Given the description of an element on the screen output the (x, y) to click on. 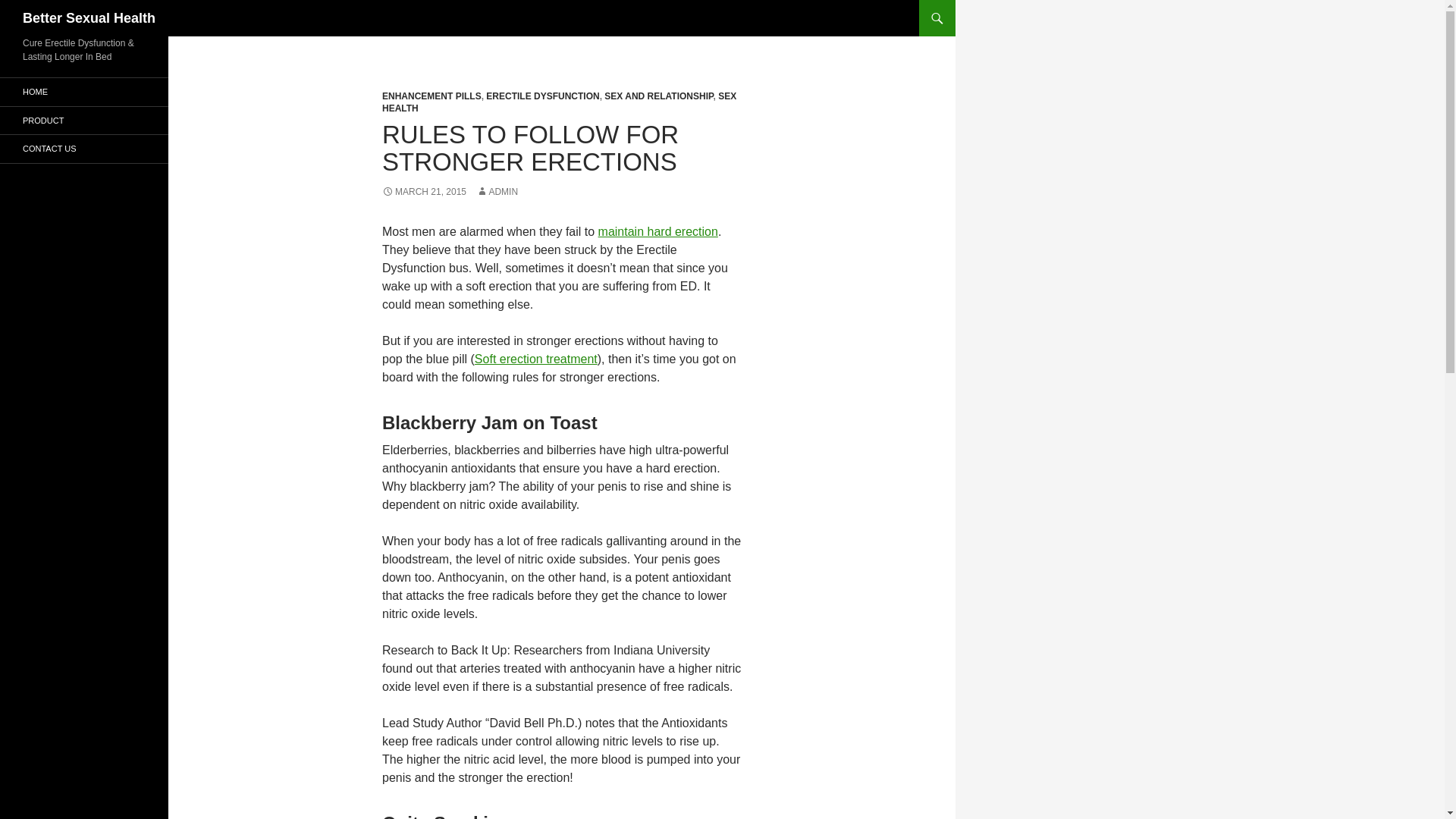
maintain hard erection (657, 231)
MARCH 21, 2015 (423, 191)
Better Sexual Health (89, 18)
maxi2 treat soft erection (535, 358)
activ homme maintain hard erection (657, 231)
SEX AND RELATIONSHIP (658, 95)
PRODUCT (84, 120)
ERECTILE DYSFUNCTION (542, 95)
ENHANCEMENT PILLS (431, 95)
SEX HEALTH (558, 101)
CONTACT US (84, 148)
HOME (84, 91)
ADMIN (497, 191)
